Given the description of an element on the screen output the (x, y) to click on. 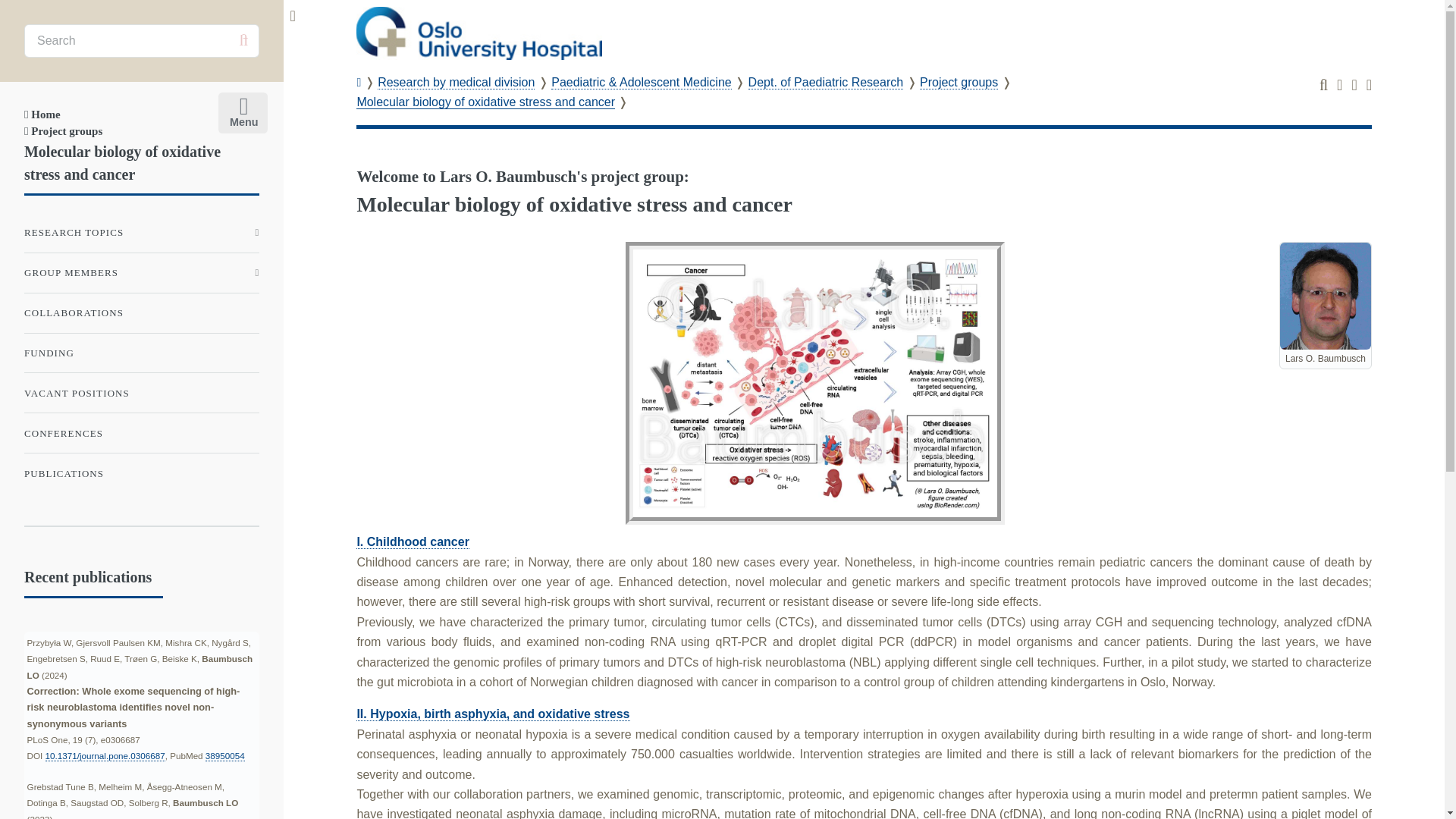
Project groups (62, 131)
Go to menu (1369, 85)
Molecular biology of oxidative stress and cancer (122, 162)
CONFERENCES (141, 433)
Molecular biology of oxidative stress and cancer (485, 101)
38950054 (224, 756)
Lars O. Baumbusch (1325, 295)
VACANT POSITIONS (141, 393)
Search (1323, 85)
II. Hypoxia, birth asphyxia, and oxidative stress (492, 714)
OUH - Molecular biology of oxidative stress and cancer (479, 33)
COLLABORATIONS (141, 312)
Publication search (1339, 85)
FUNDING (141, 353)
Research by medical division (455, 82)
